Given the description of an element on the screen output the (x, y) to click on. 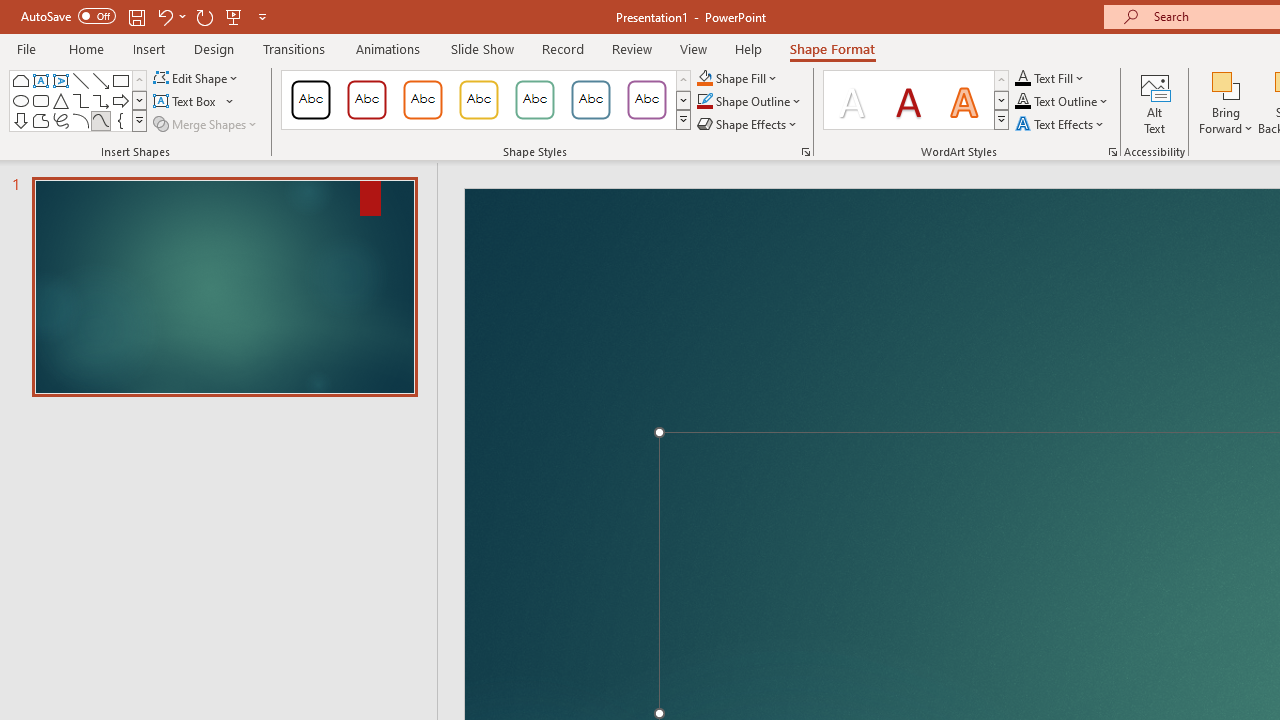
Curve (100, 120)
Slide Show (481, 48)
Colored Outline - Black, Dark 1 (310, 100)
Save (136, 15)
Shape Outline Blue, Accent 1 (704, 101)
